Given the description of an element on the screen output the (x, y) to click on. 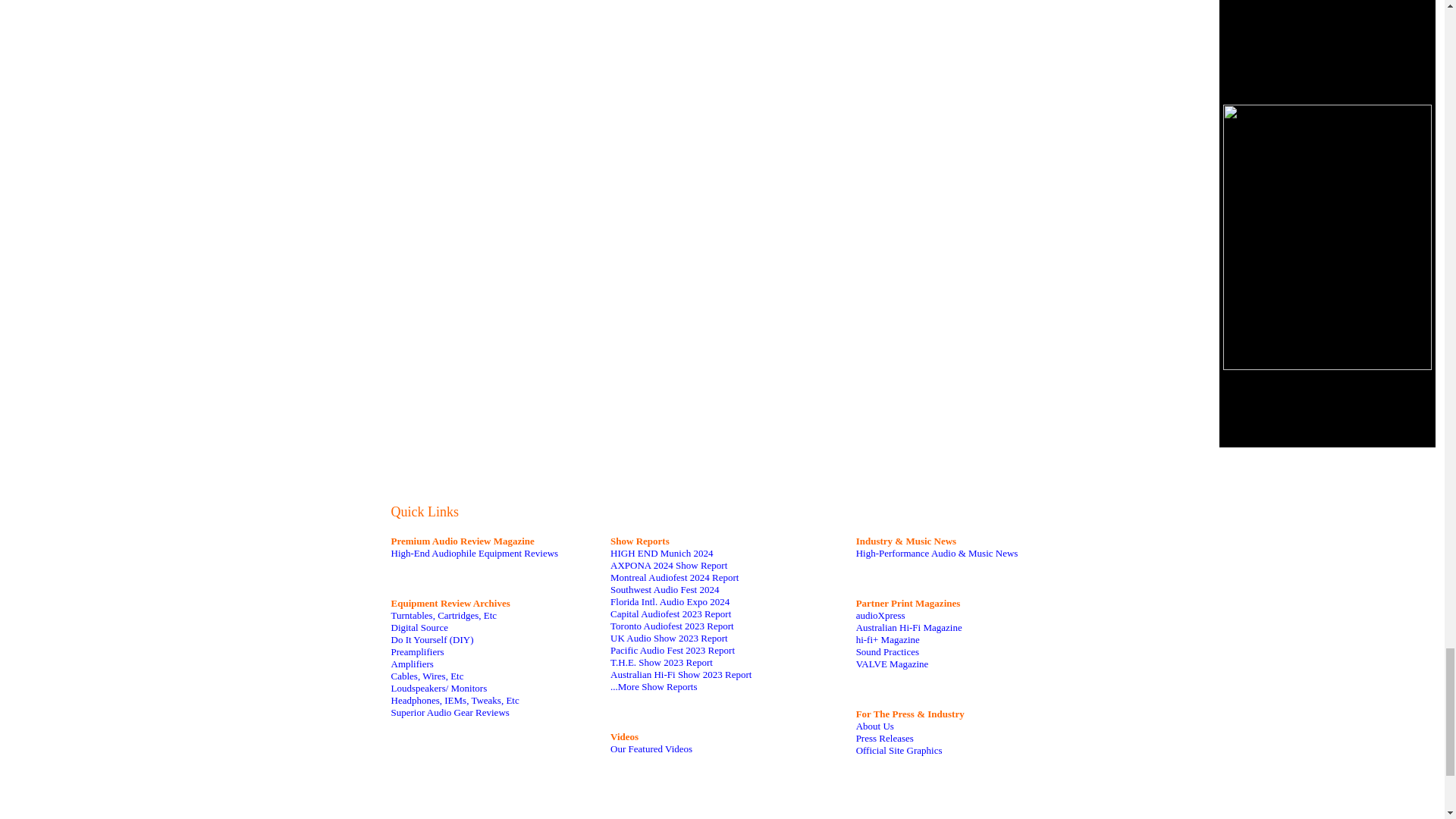
Cables, Wires, Etc (427, 675)
Preamplifiers (417, 651)
High-End Audiophile Equipment Reviews (475, 552)
Amplifiers (412, 663)
Turntables, Cartridges, Etc (444, 614)
Digital Source (419, 627)
